Given the description of an element on the screen output the (x, y) to click on. 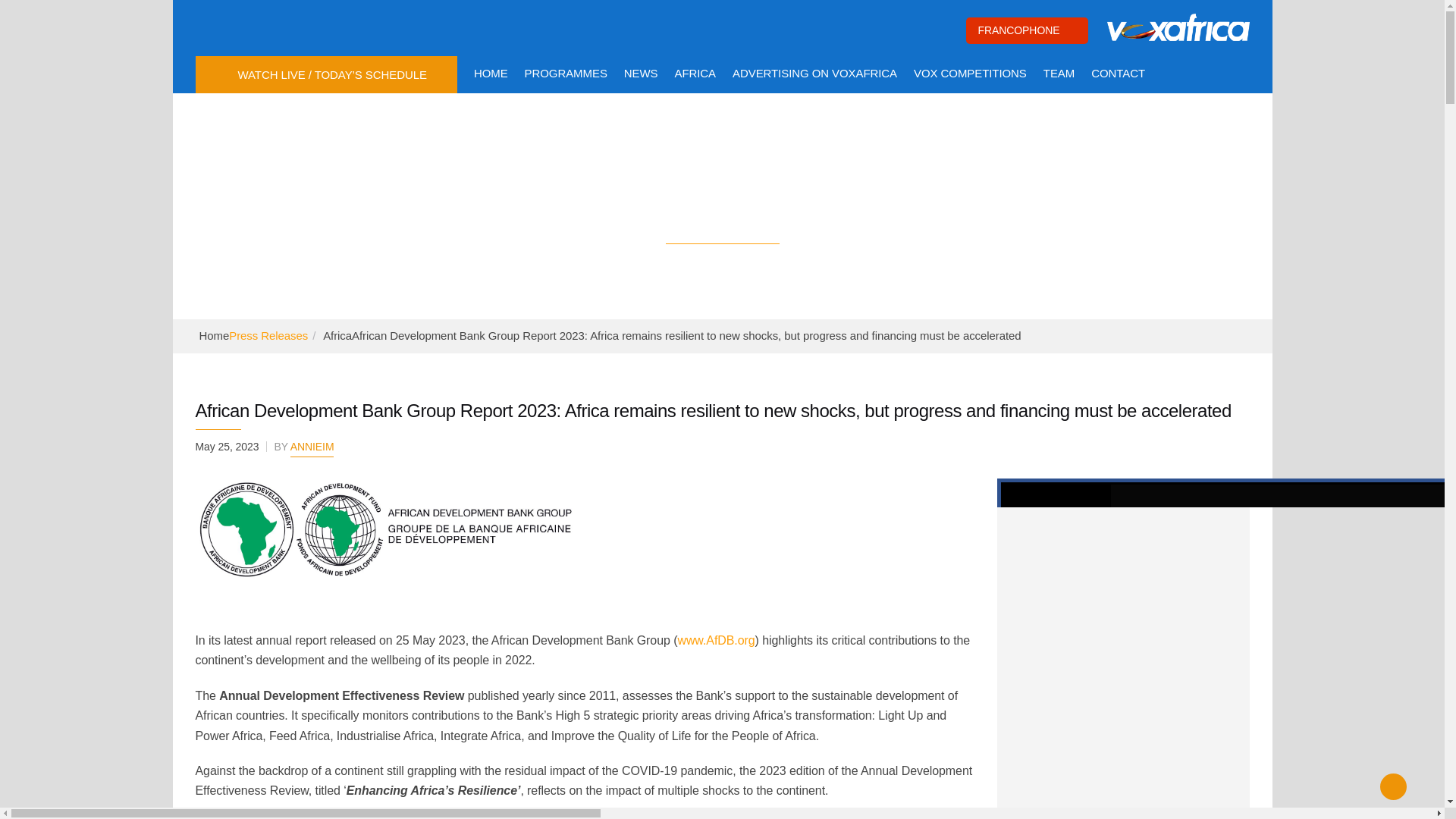
Voxafrica (1177, 26)
VOX COMPETITIONS (970, 73)
www.AfDB.org (715, 640)
Search Trigger (1240, 73)
AFRICA (695, 73)
TEAM (1058, 73)
Go to Press Releases. (267, 335)
Press Releases (267, 335)
ANNIEIM (311, 448)
Linked In (341, 25)
FRANCOPHONE (1026, 30)
Youtube (274, 25)
Instagram (307, 25)
Twitter (240, 25)
